Given the description of an element on the screen output the (x, y) to click on. 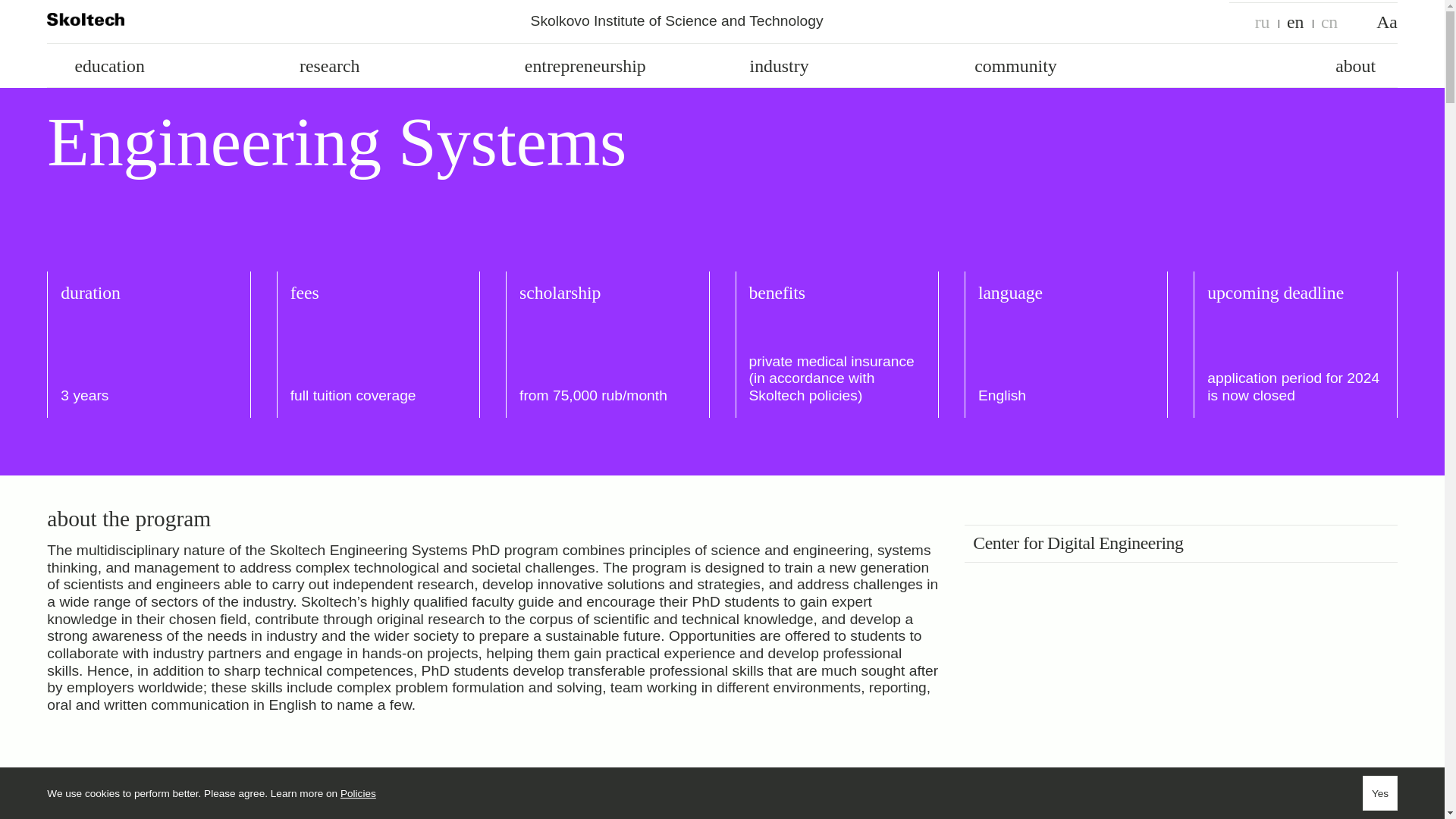
industry (840, 66)
entrepreneurship (615, 66)
cn (1329, 22)
en (1295, 22)
Aa (1386, 22)
research (390, 66)
education (165, 66)
ru (1262, 22)
